Given the description of an element on the screen output the (x, y) to click on. 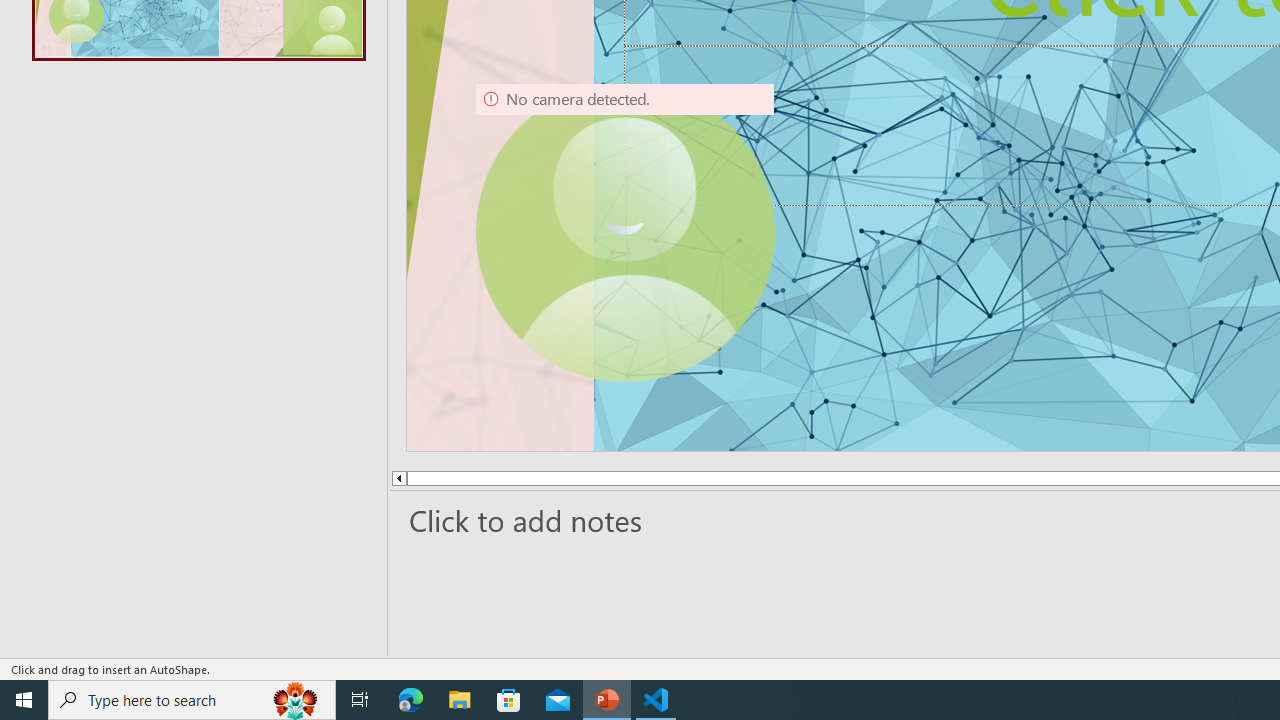
Camera 9, No camera detected. (624, 232)
